Given the description of an element on the screen output the (x, y) to click on. 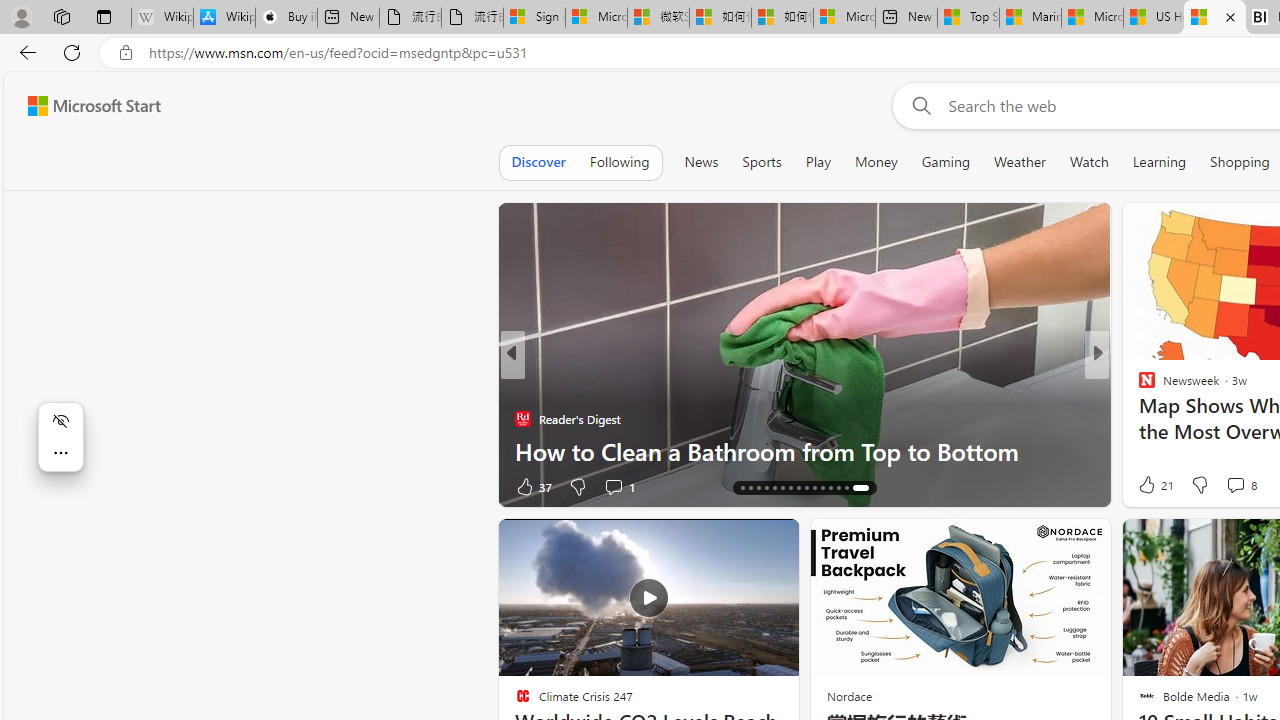
View comments 3 Comment (1229, 485)
Live Science (1138, 418)
Reader's Digest (1138, 418)
Weather (1019, 162)
View comments 31 Comment (1237, 486)
Play (818, 162)
Top Stories - MSN (968, 17)
257 Like (1151, 486)
View comments 18 Comment (1234, 485)
